Given the description of an element on the screen output the (x, y) to click on. 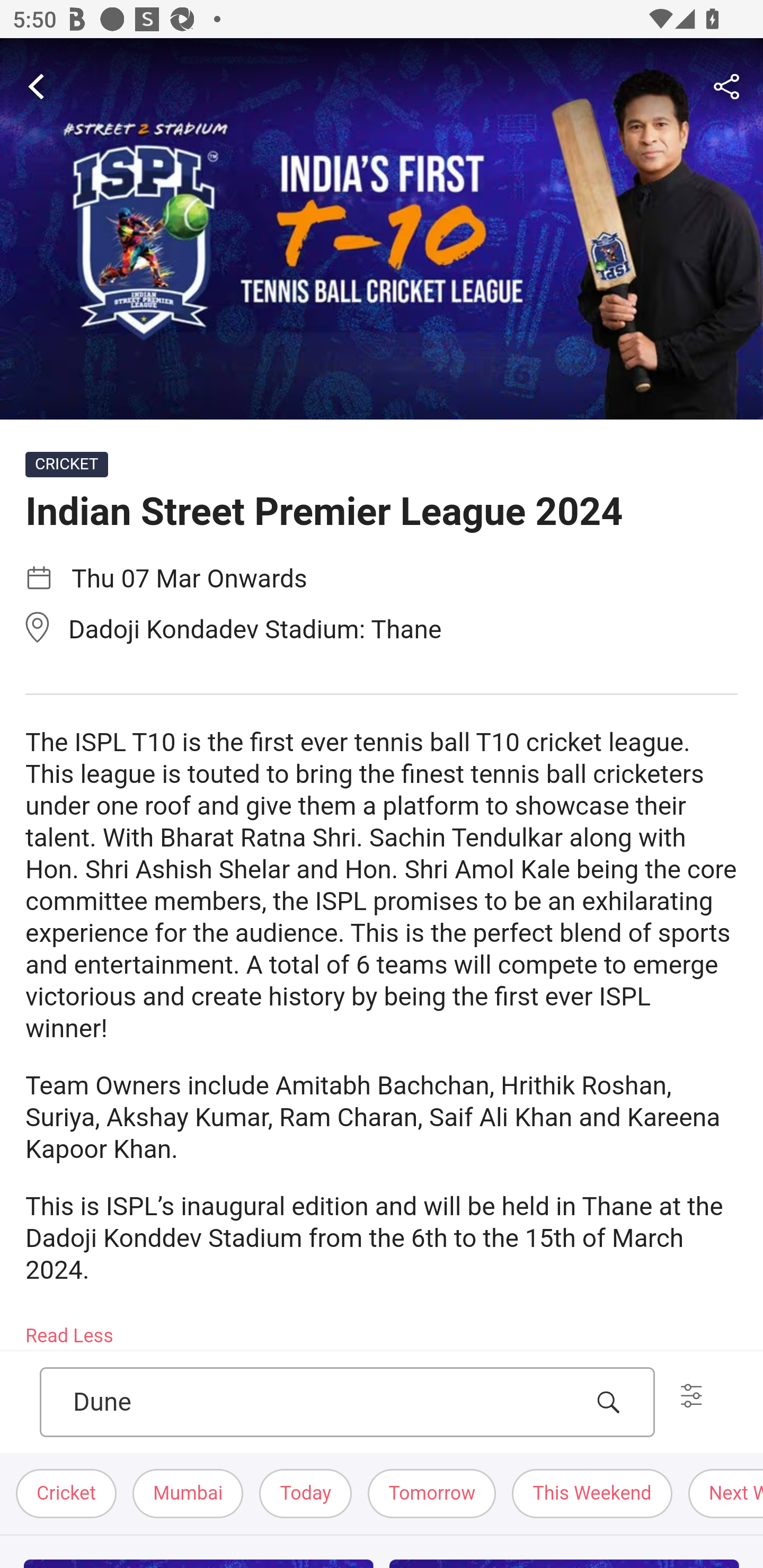
Indian Street Premier League 2024 (381, 228)
Read Less (69, 1329)
Dune (327, 1402)
Cricket (66, 1493)
Mumbai (187, 1493)
Today (305, 1493)
Tomorrow (432, 1493)
This Weekend (591, 1493)
